Given the description of an element on the screen output the (x, y) to click on. 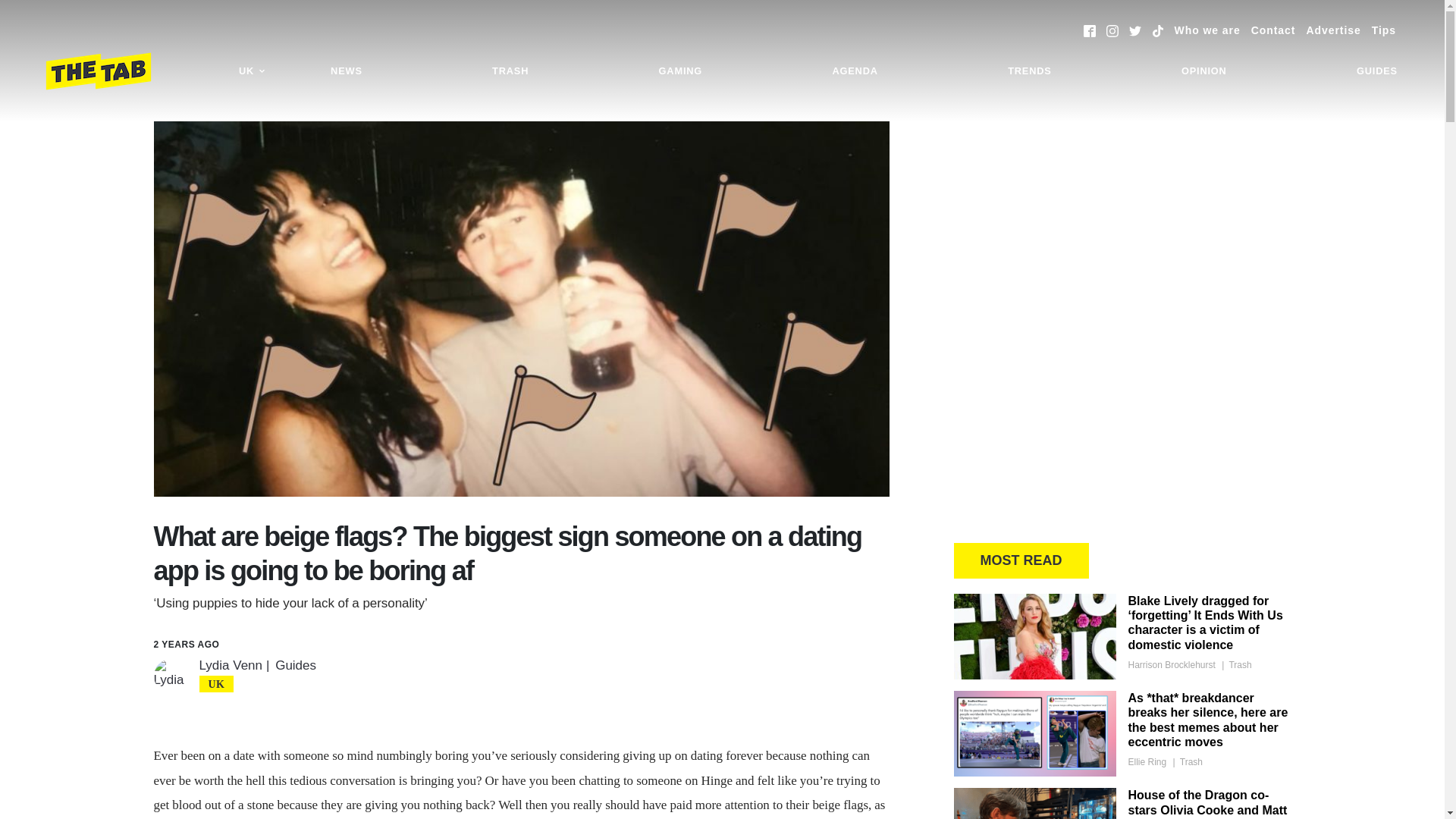
TRENDS (1028, 71)
Tips (1383, 29)
Who we are (1207, 29)
Contact (1272, 29)
OPINION (1204, 71)
TRASH (510, 71)
NEWS (346, 71)
UK (252, 71)
GAMING (680, 71)
Advertise (1332, 29)
